Given the description of an element on the screen output the (x, y) to click on. 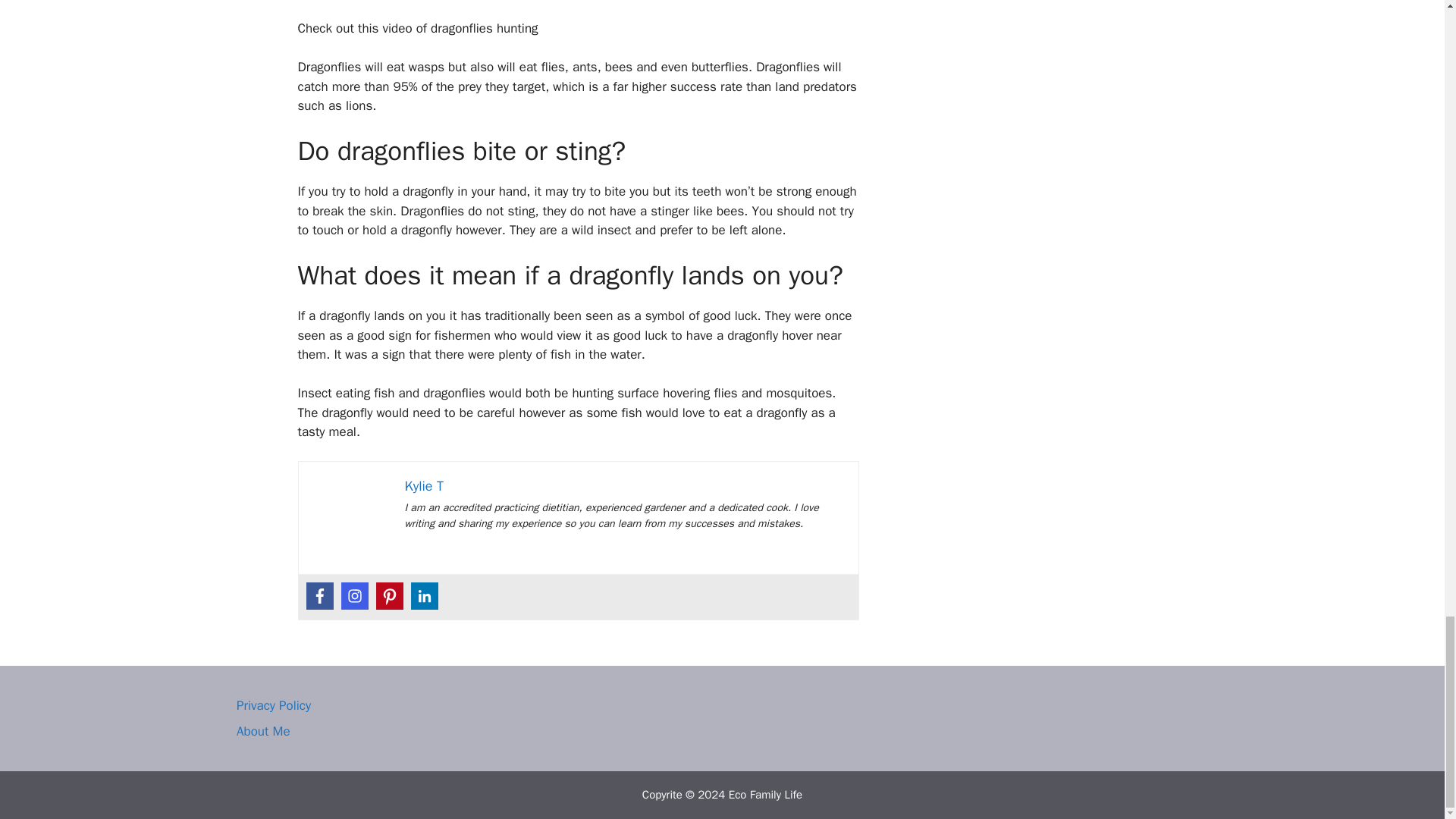
Kylie T (424, 485)
Facebook (319, 595)
About Me (262, 731)
Instagram (354, 595)
Pinterest (389, 595)
Linkedin (424, 595)
Privacy Policy (273, 705)
